Given the description of an element on the screen output the (x, y) to click on. 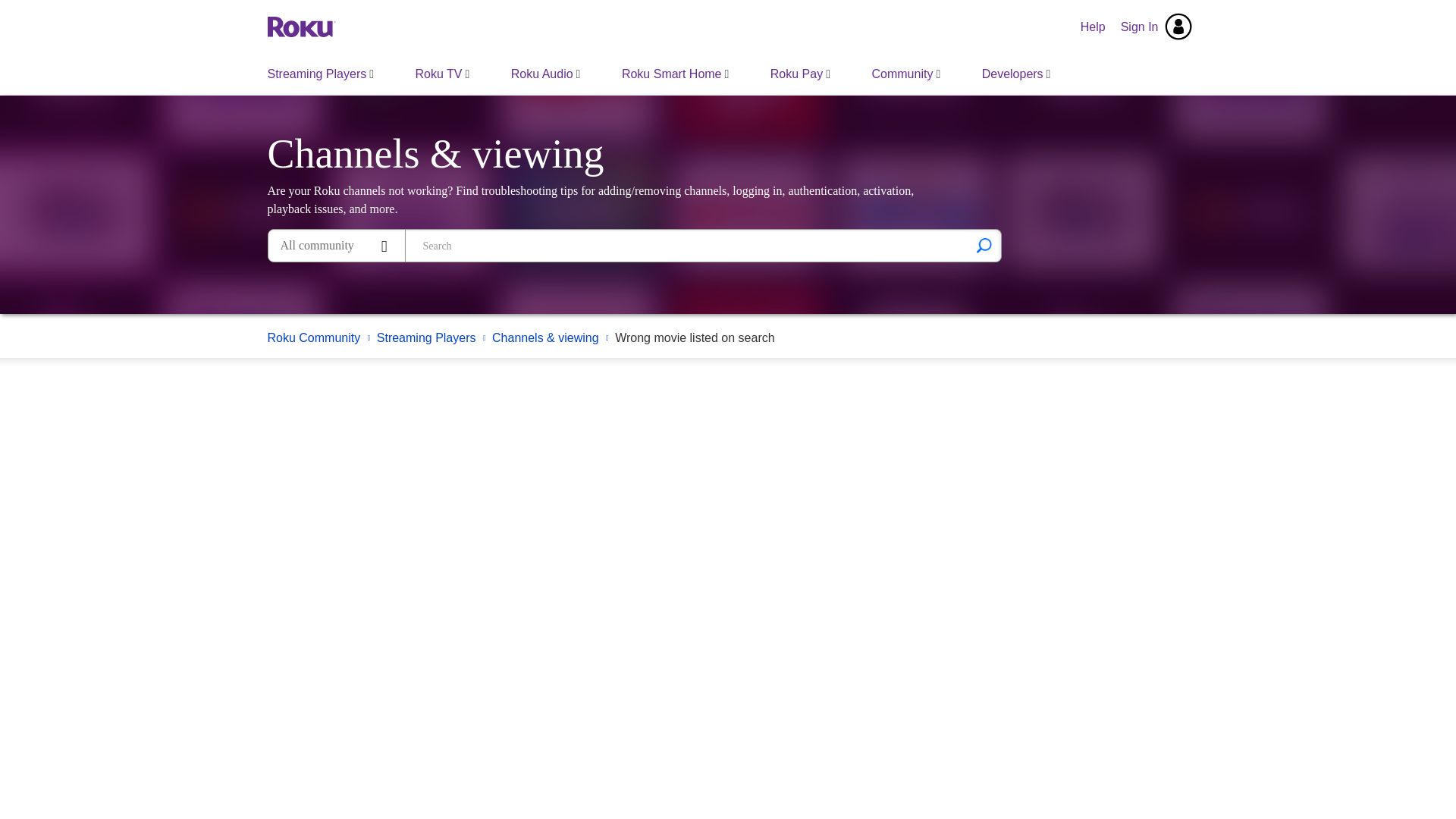
Roku Pay (799, 73)
Search (983, 245)
Developers (1016, 73)
Search Granularity (335, 245)
Sign In (1156, 26)
Search (686, 245)
Community (905, 73)
Roku TV (442, 73)
Roku Audio (545, 73)
Search (983, 245)
Search (983, 245)
Roku Smart Home (675, 73)
Streaming Players (320, 73)
Roku Community (300, 26)
Help (1093, 26)
